Given the description of an element on the screen output the (x, y) to click on. 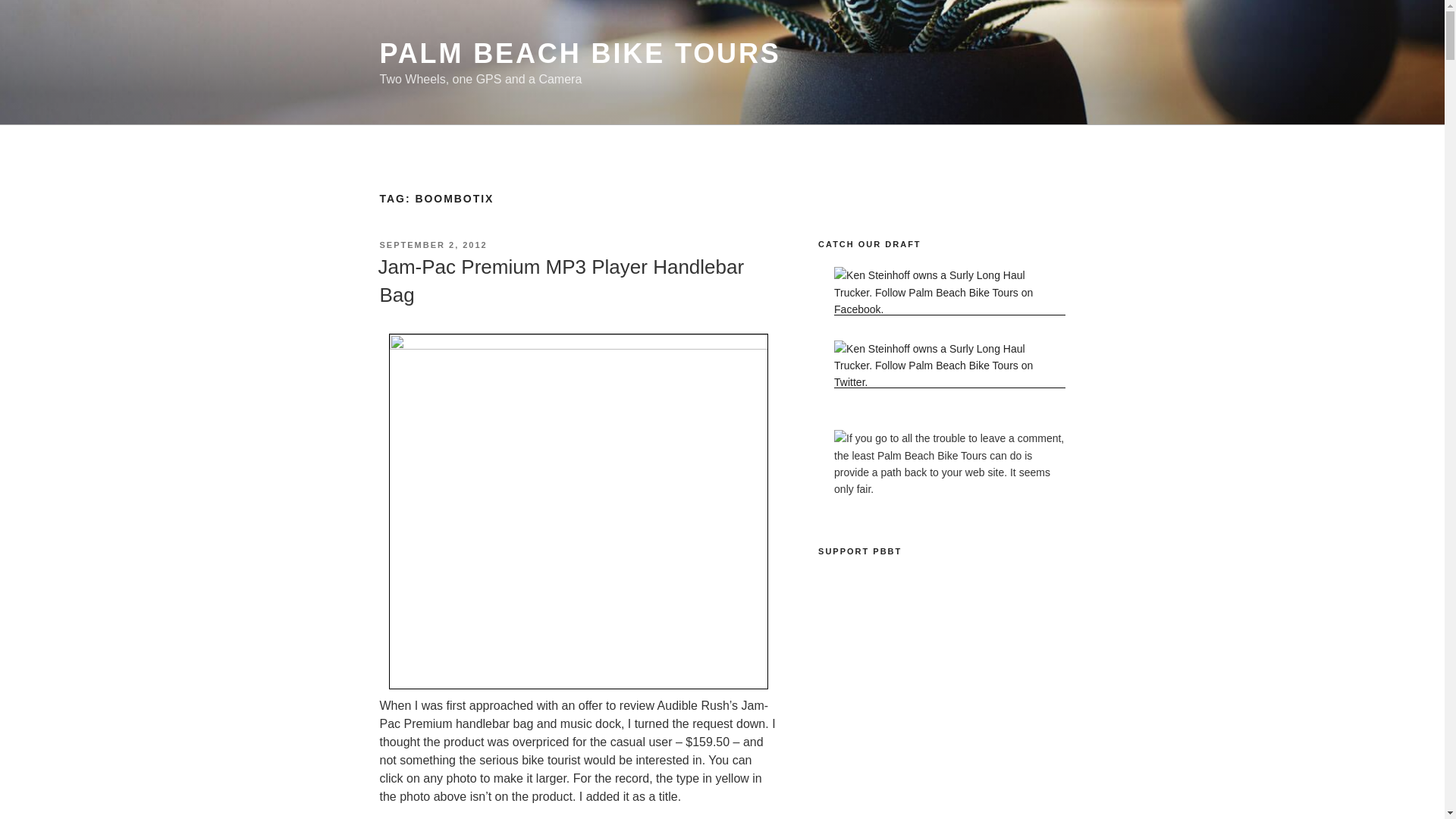
PALM BEACH BIKE TOURS (579, 52)
Jam-Pac Premium MP3 Player Handlebar Bag (560, 280)
SEPTEMBER 2, 2012 (432, 244)
